Given the description of an element on the screen output the (x, y) to click on. 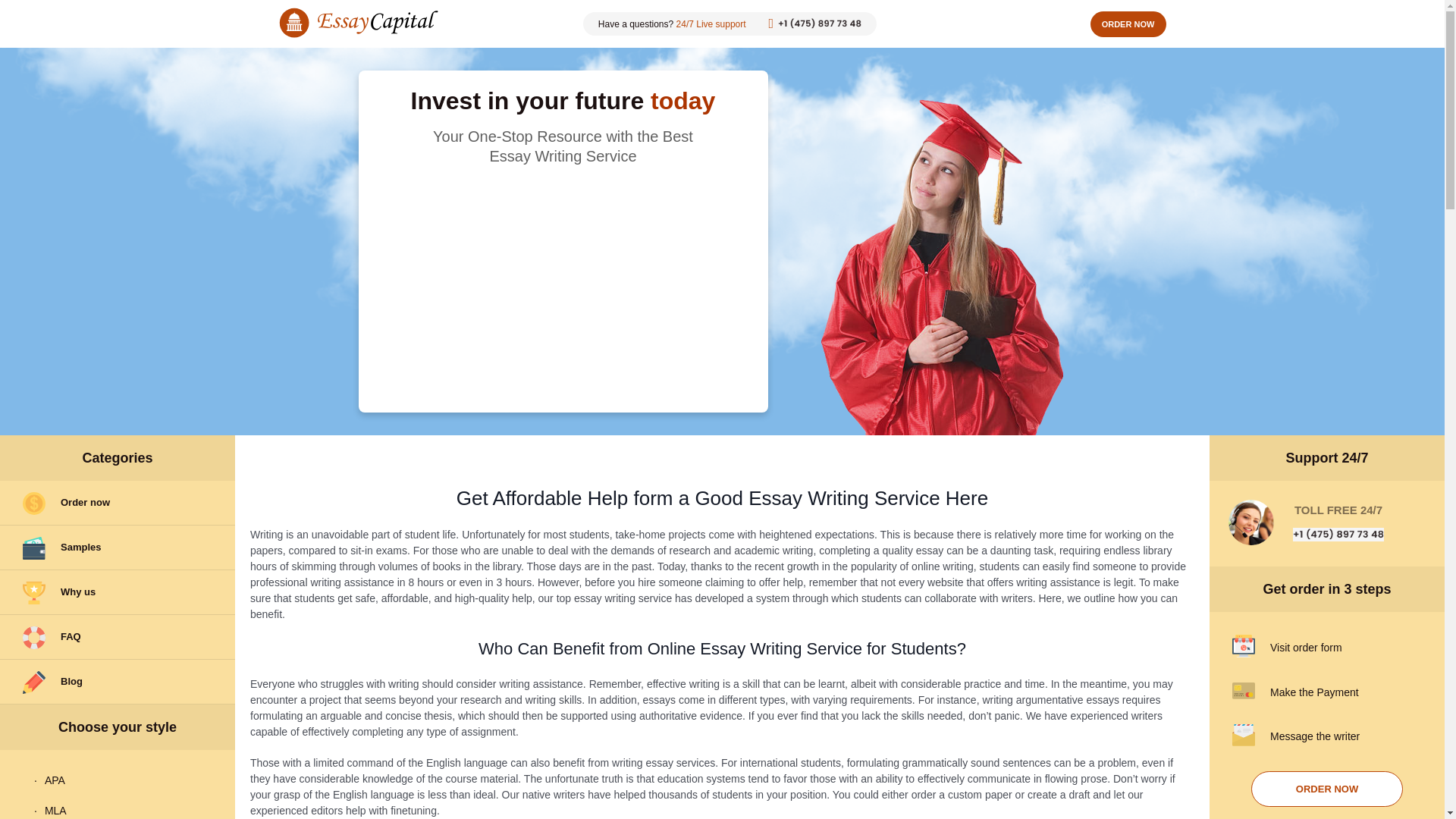
Samples (117, 547)
ORDER NOW (1128, 23)
Why us (117, 592)
FAQ (117, 637)
ORDER NOW (1326, 788)
Blog (117, 682)
MLA (117, 807)
APA (117, 779)
Order now (117, 502)
